Given the description of an element on the screen output the (x, y) to click on. 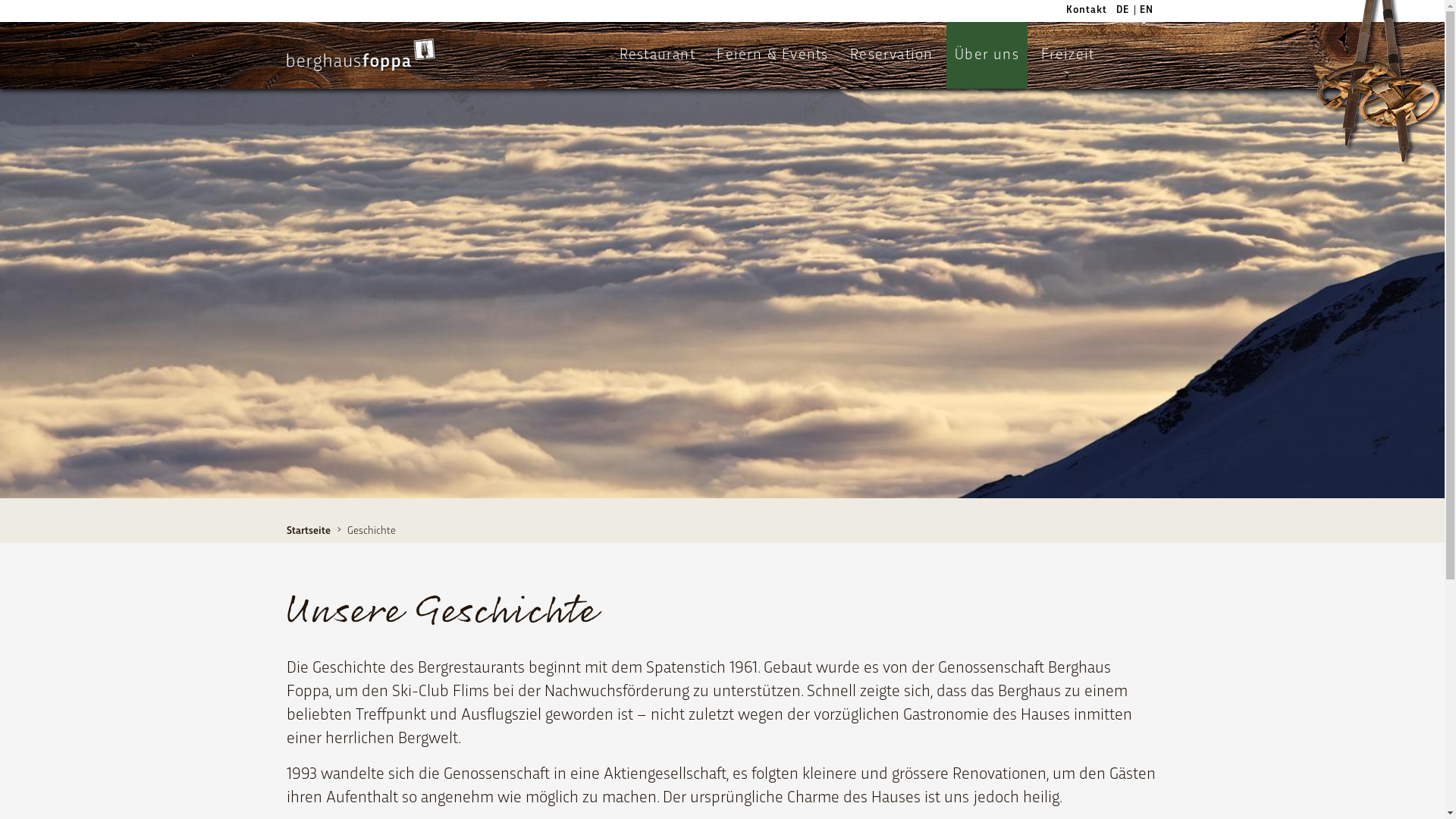
DE Element type: text (1123, 10)
Kontakt Element type: text (1085, 10)
Restaurant Element type: text (657, 54)
Freizeit Element type: text (1067, 54)
Startseite Element type: text (308, 531)
Reservation Element type: text (891, 54)
EN Element type: text (1146, 10)
Feiern & Events Element type: text (772, 54)
